Given the description of an element on the screen output the (x, y) to click on. 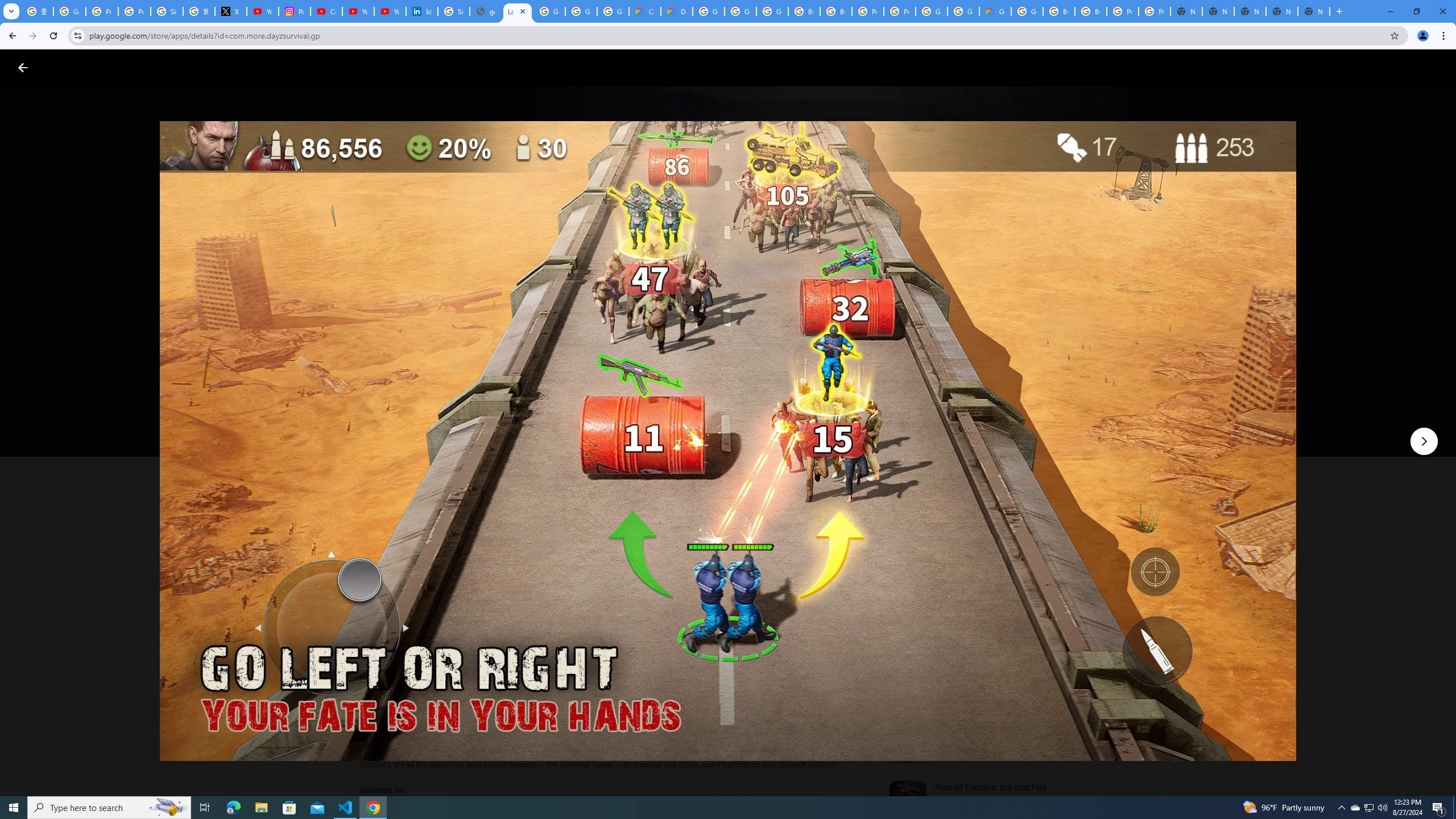
Apps (182, 67)
Scroll Next (848, 563)
Google Cloud Platform (963, 11)
Google Cloud Platform (708, 11)
Expand (978, 497)
